Given the description of an element on the screen output the (x, y) to click on. 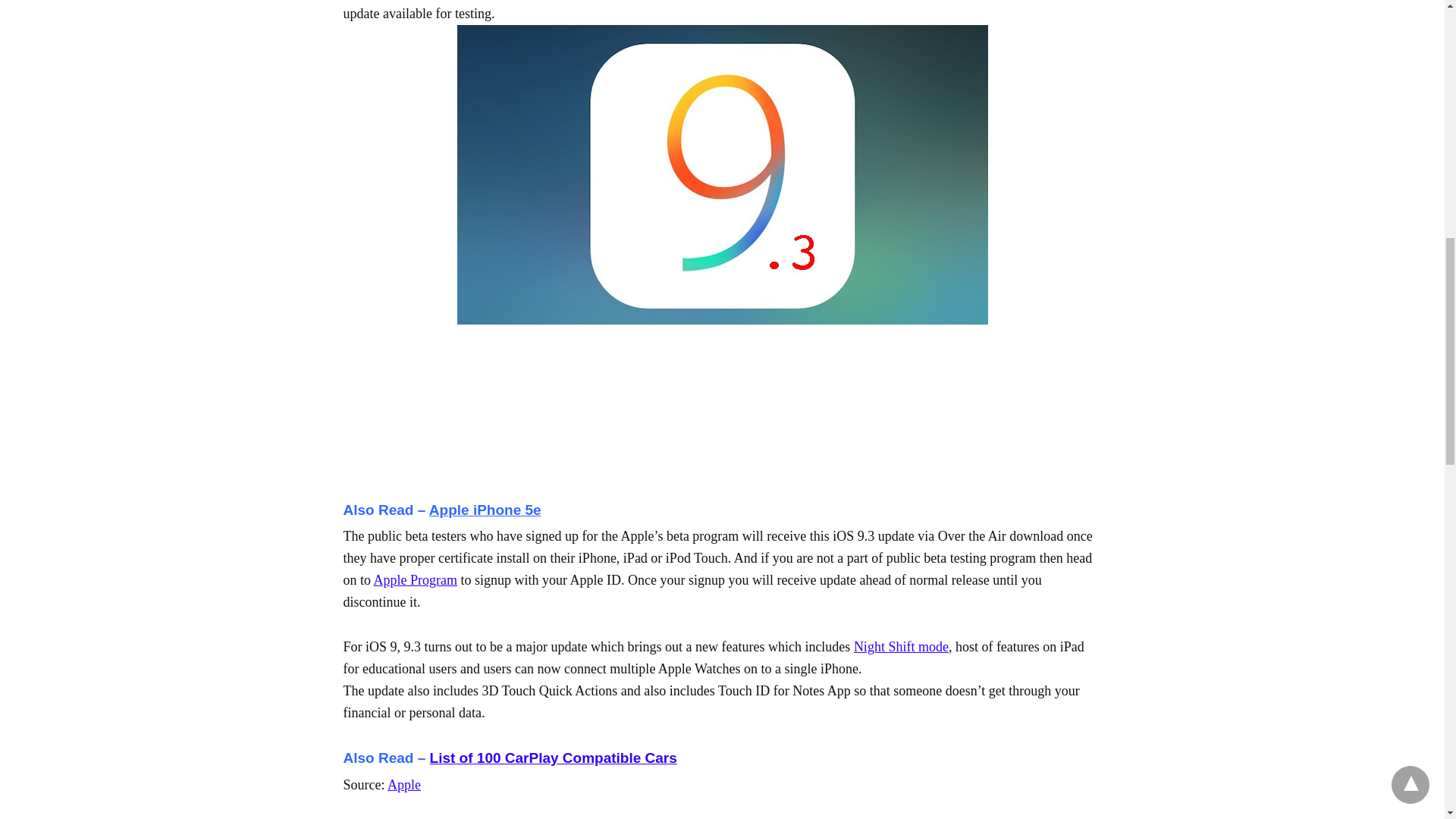
List of 100 CarPlay Compatible Cars (553, 757)
Apple Program (415, 580)
Apple iPhone 5e (485, 509)
Night Shift mode (901, 646)
Apple (403, 784)
